Given the description of an element on the screen output the (x, y) to click on. 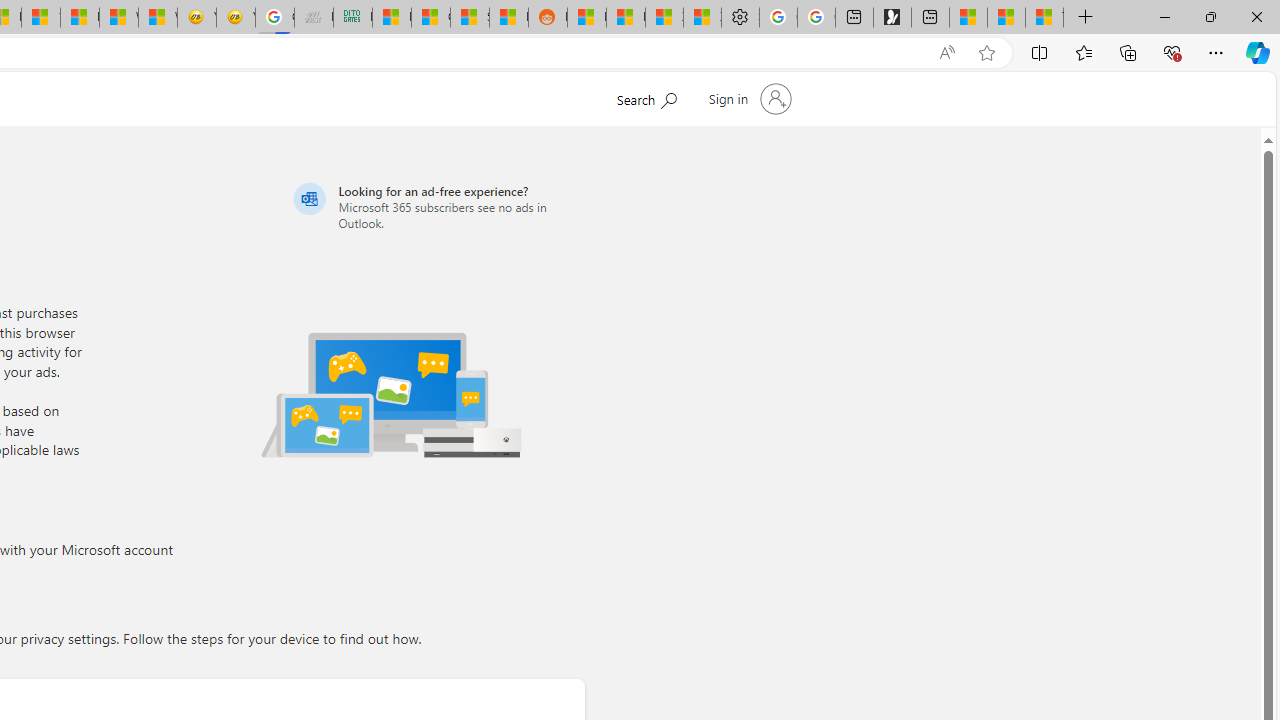
Split screen (1039, 52)
DITOGAMES AG Imprint (353, 17)
Microsoft Start Gaming (892, 17)
Collections (1128, 52)
MSNBC - MSN (391, 17)
Stocks - MSN (469, 17)
Read aloud this page (Ctrl+Shift+U) (946, 53)
Browser essentials (1171, 52)
R******* | Trusted Community Engagement and Contributions (586, 17)
Navy Quest (313, 17)
New Tab (1085, 17)
New tab (929, 17)
Settings (740, 17)
